Given the description of an element on the screen output the (x, y) to click on. 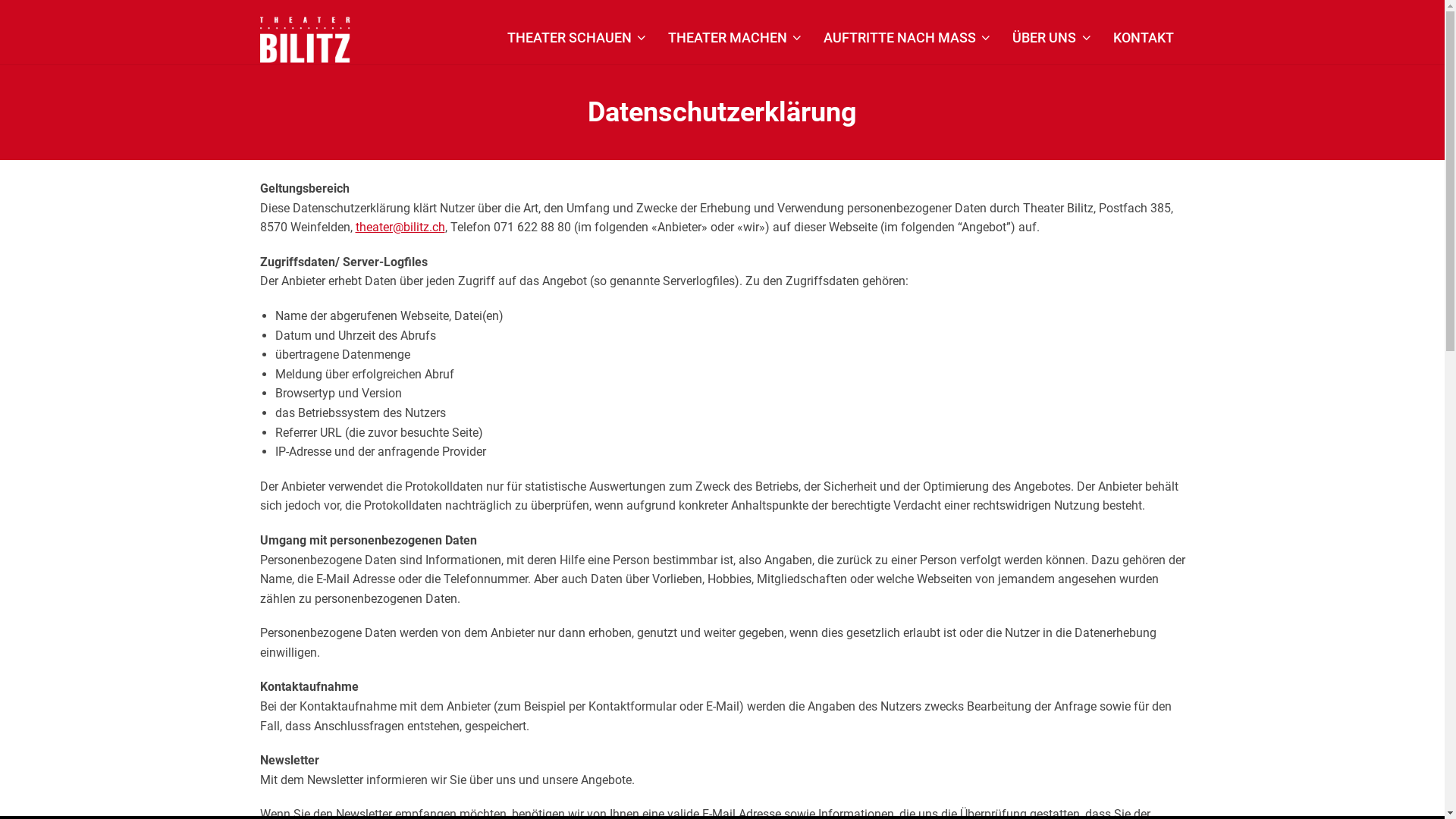
Theater Bilitz Element type: hover (304, 39)
THEATER MACHEN Element type: text (734, 37)
KONTAKT Element type: text (1143, 37)
theater@bilitz.ch Element type: text (399, 226)
THEATER SCHAUEN Element type: text (576, 37)
AUFTRITTE NACH MASS Element type: text (906, 37)
